Given the description of an element on the screen output the (x, y) to click on. 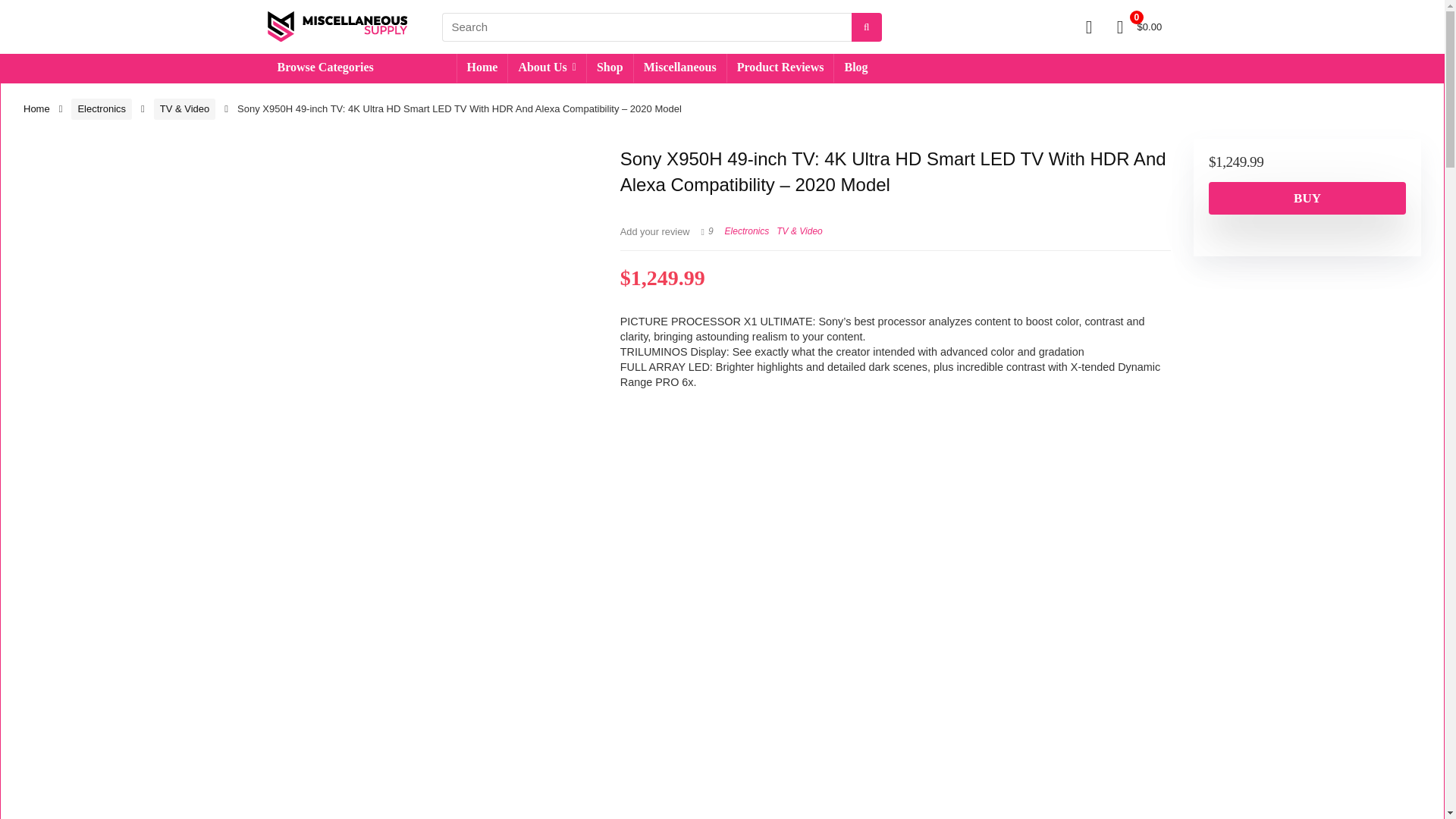
Product Reviews (780, 68)
Home (481, 68)
Miscellaneous (679, 68)
View all posts in Electronics (747, 231)
Home (36, 108)
Electronics (101, 108)
Blog (855, 68)
About Us (547, 68)
Browse Categories (360, 68)
Add your review (655, 231)
